Given the description of an element on the screen output the (x, y) to click on. 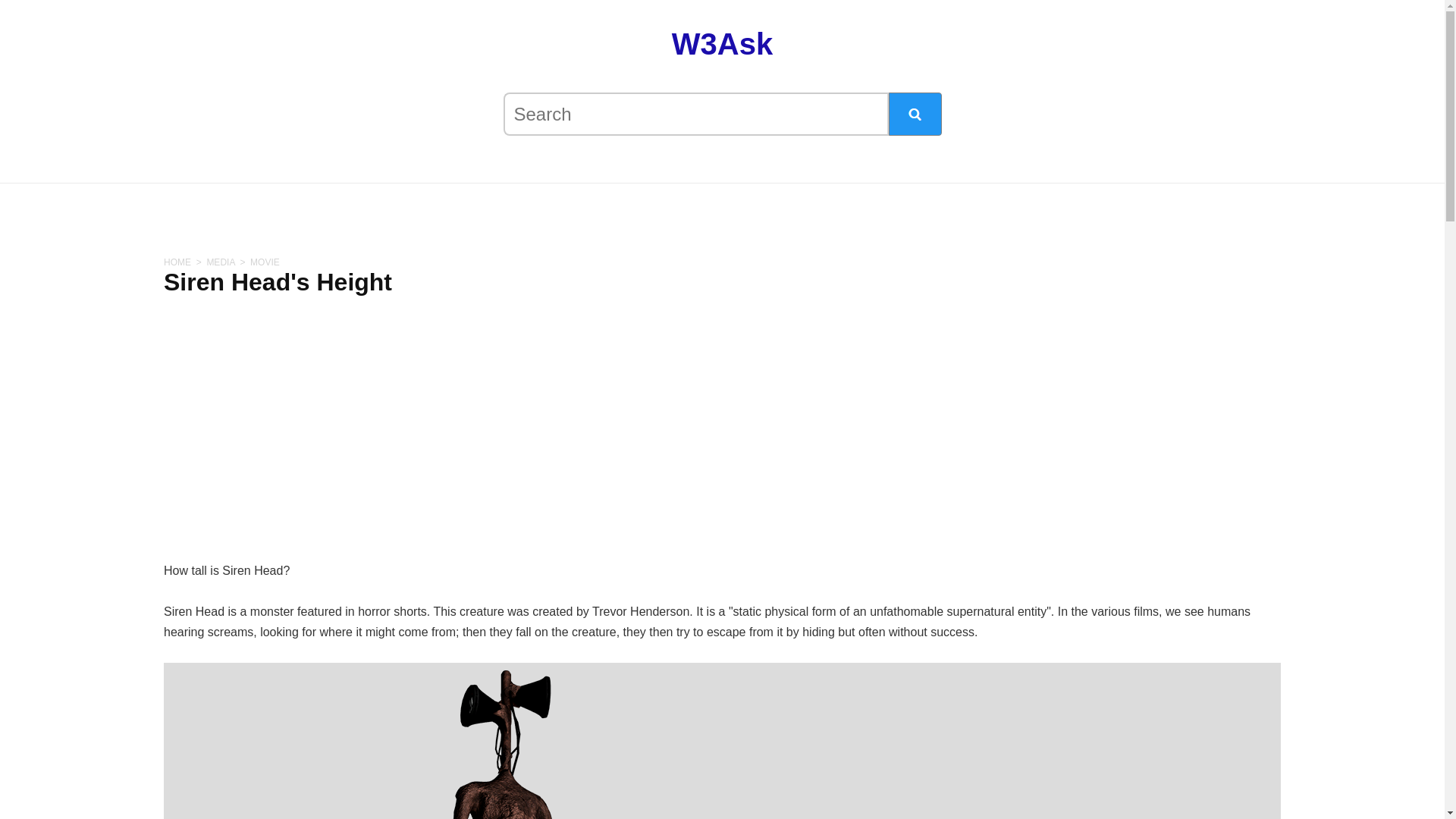
W3Ask (722, 43)
Advertisement (75, 745)
MOVIE (264, 262)
Siren Head (500, 744)
MEDIA (220, 262)
HOME (176, 262)
Advertisement (1368, 752)
